Given the description of an element on the screen output the (x, y) to click on. 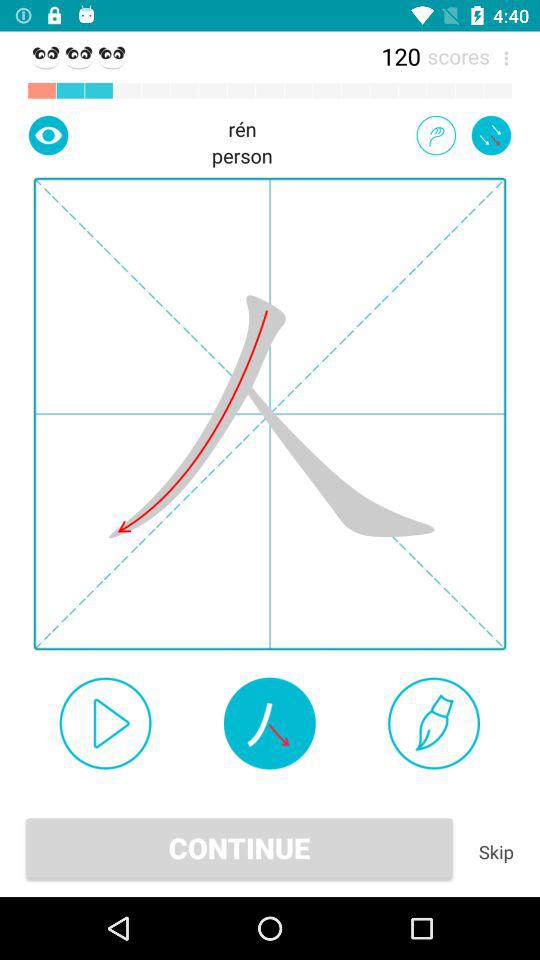
open the item to the left of the person icon (48, 135)
